Given the description of an element on the screen output the (x, y) to click on. 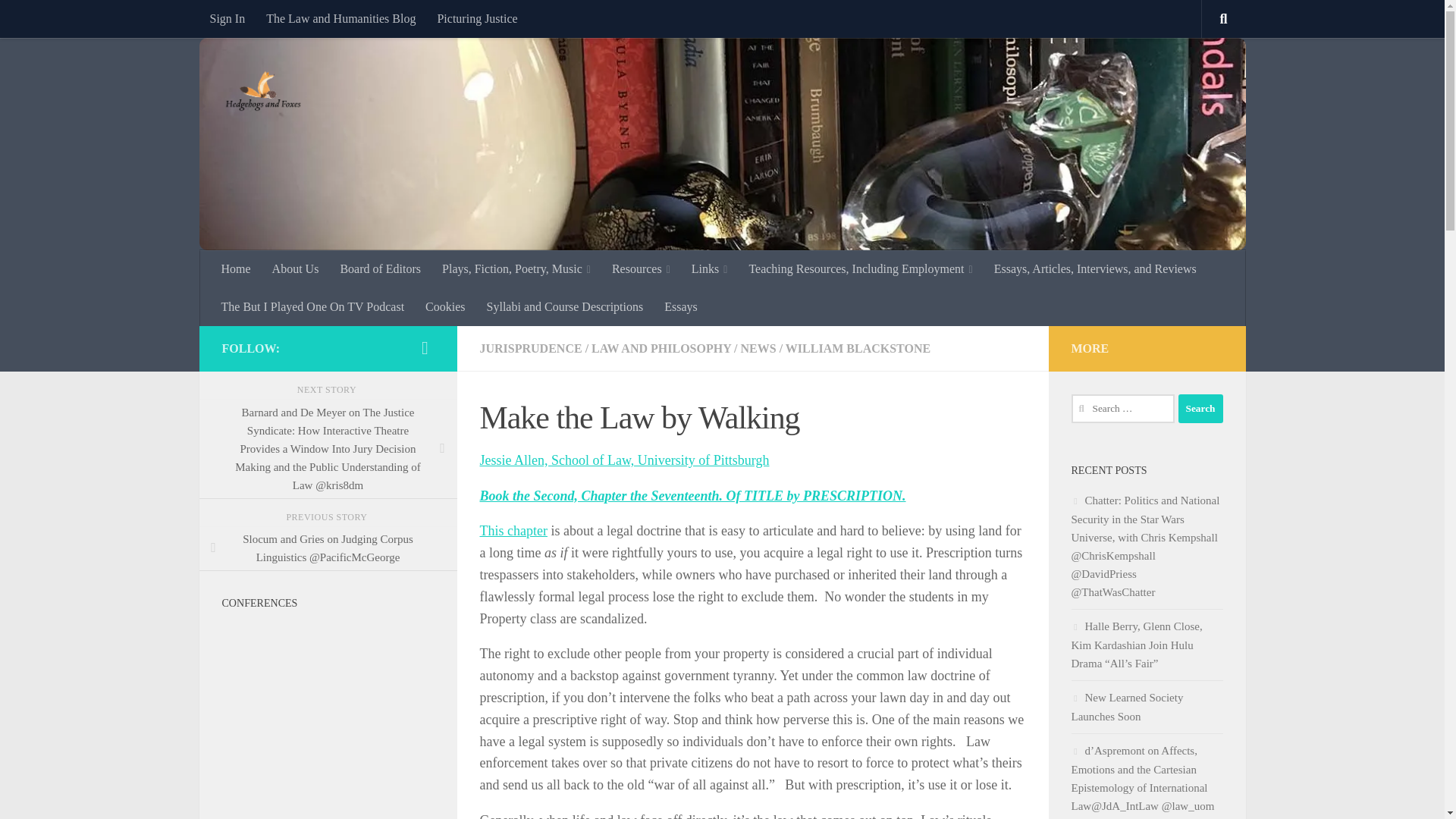
The Law and Humanities Blog (341, 18)
Search (1200, 408)
Resources (641, 269)
Skip to content (59, 20)
Follow us on Twitter (423, 348)
About Us (296, 269)
Search (1200, 408)
Sign In (227, 18)
Board of Editors (379, 269)
Plays, Fiction, Poetry, Music (515, 269)
Home (236, 269)
Picturing Justice (476, 18)
